Given the description of an element on the screen output the (x, y) to click on. 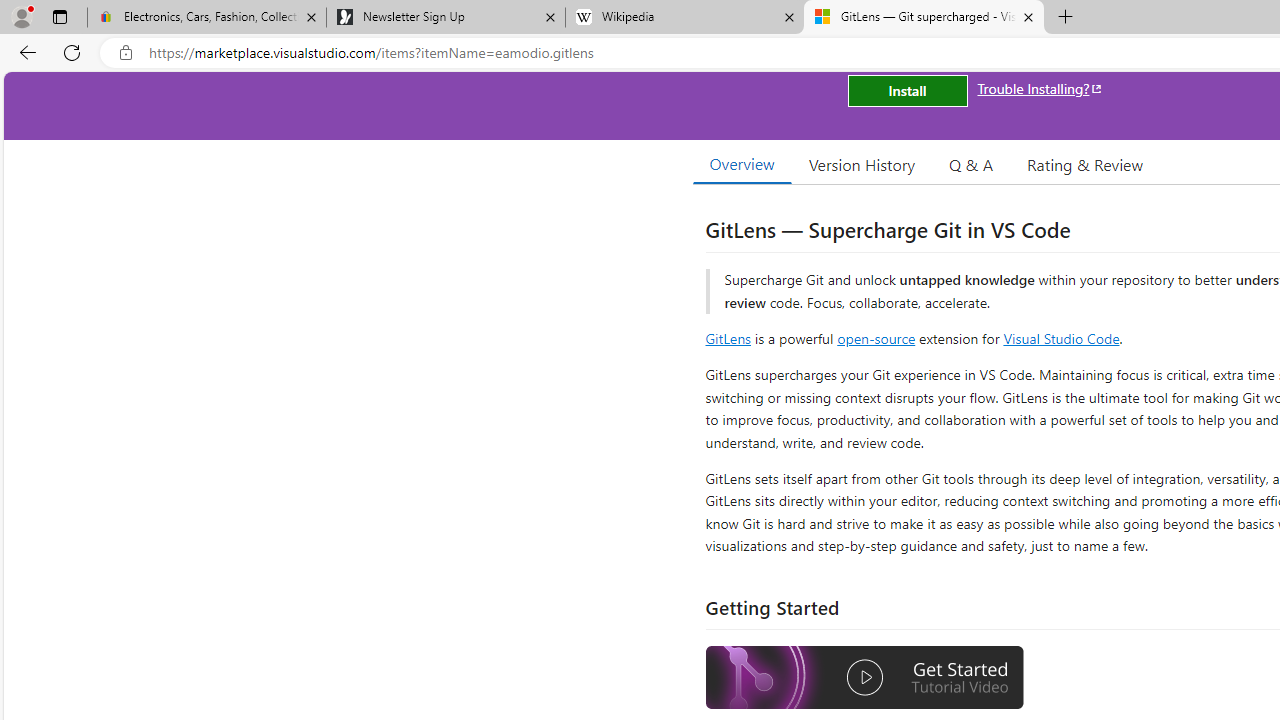
Overview (742, 164)
Version History (862, 164)
Wikipedia (684, 17)
Watch the GitLens Getting Started video (865, 679)
Install (907, 90)
Electronics, Cars, Fashion, Collectibles & More | eBay (207, 17)
View site information (125, 53)
Watch the GitLens Getting Started video (865, 678)
New Tab (1066, 17)
Q & A (971, 164)
Refresh (72, 52)
open-source (876, 337)
Visual Studio Code (1061, 337)
